Given the description of an element on the screen output the (x, y) to click on. 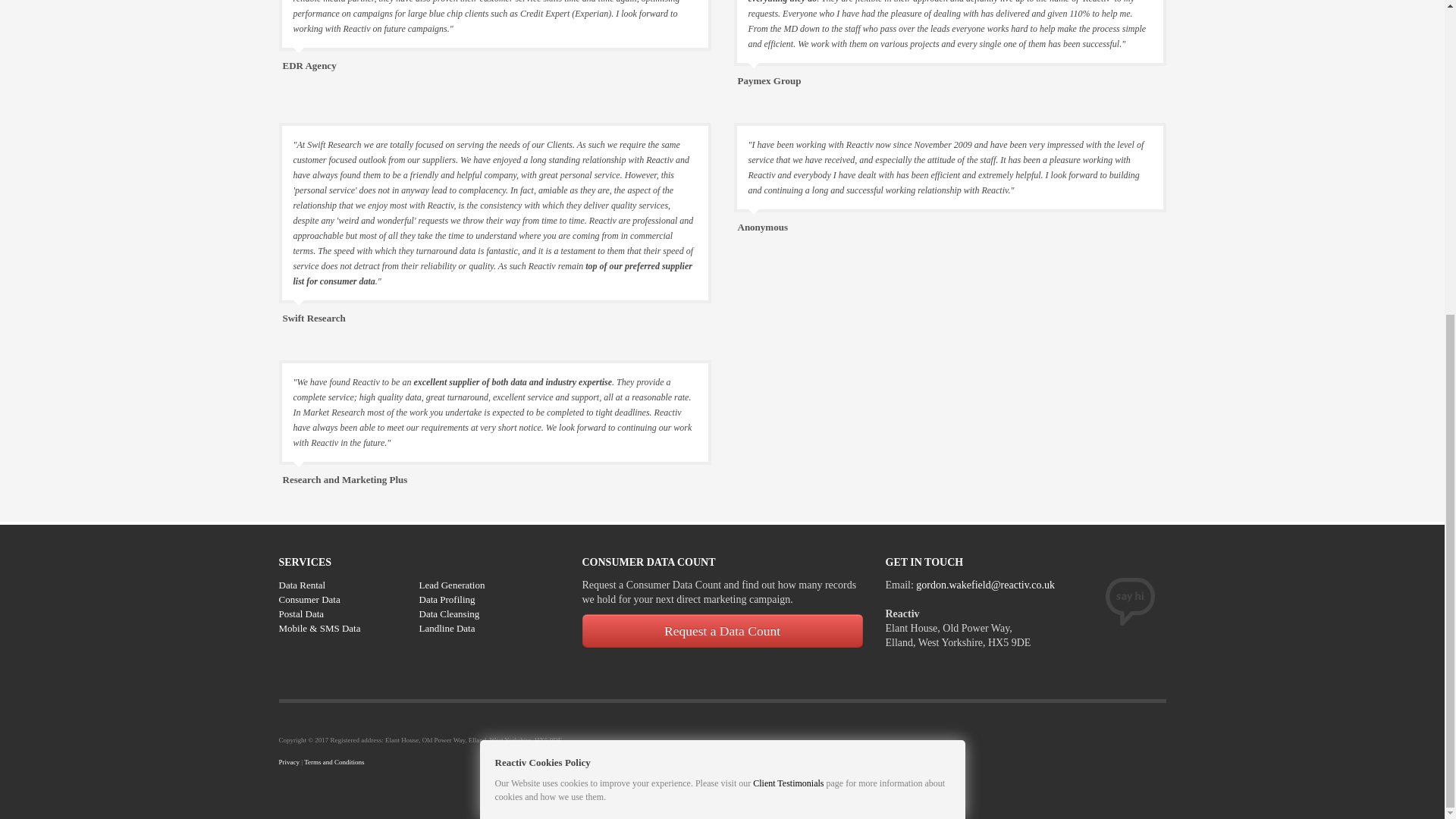
Data Rental (302, 584)
Consumer Data (309, 599)
Postal Data (301, 613)
